Given the description of an element on the screen output the (x, y) to click on. 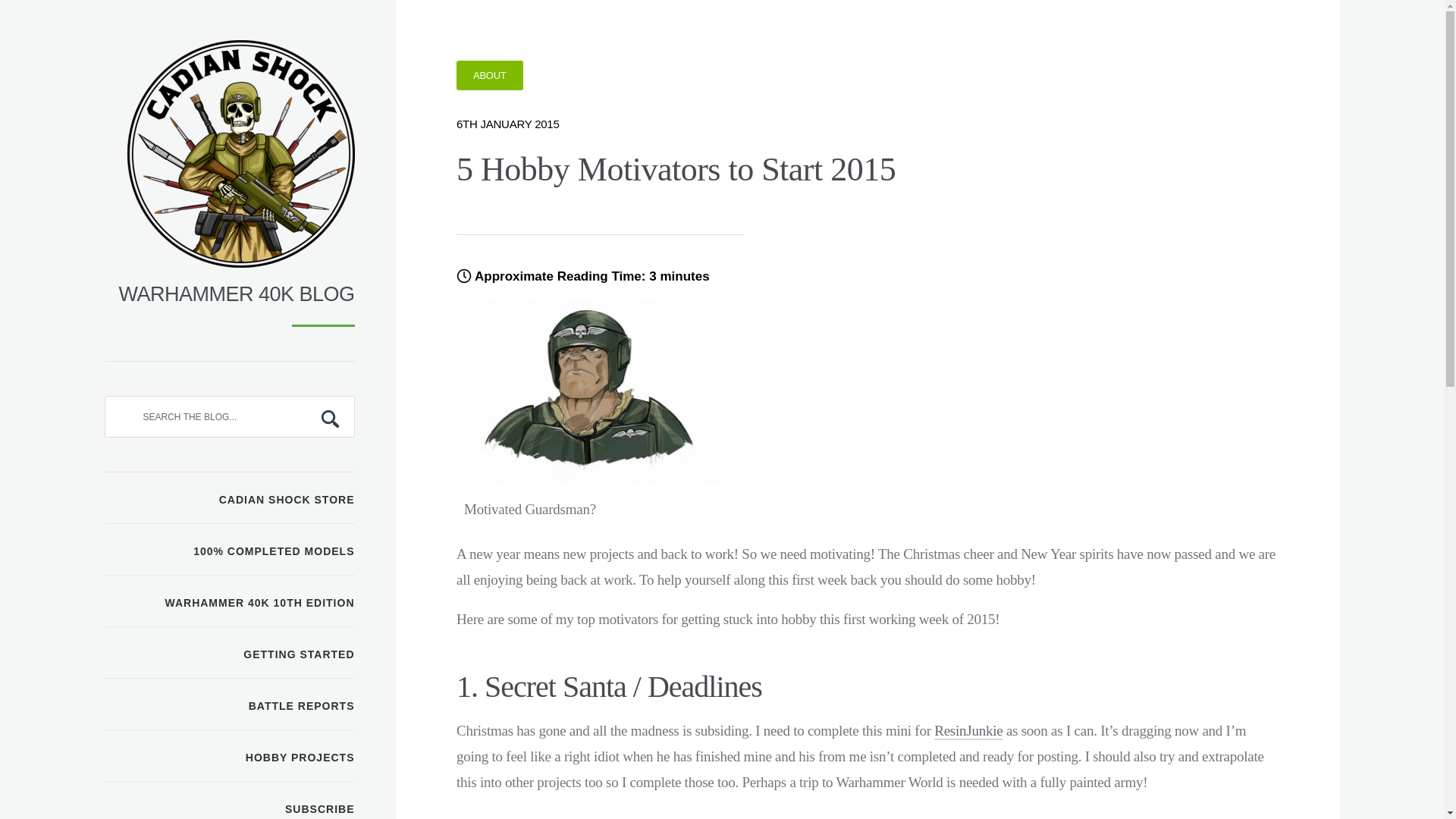
GETTING STARTED (229, 652)
WARHAMMER 40K 10TH EDITION (229, 601)
ResinJunkie (968, 731)
BATTLE REPORTS (229, 704)
CADIAN SHOCK STORE (229, 498)
HOBBY PROJECTS (229, 756)
SUBSCRIBE (229, 800)
6TH JANUARY 2015 (508, 123)
ABOUT (489, 75)
